Given the description of an element on the screen output the (x, y) to click on. 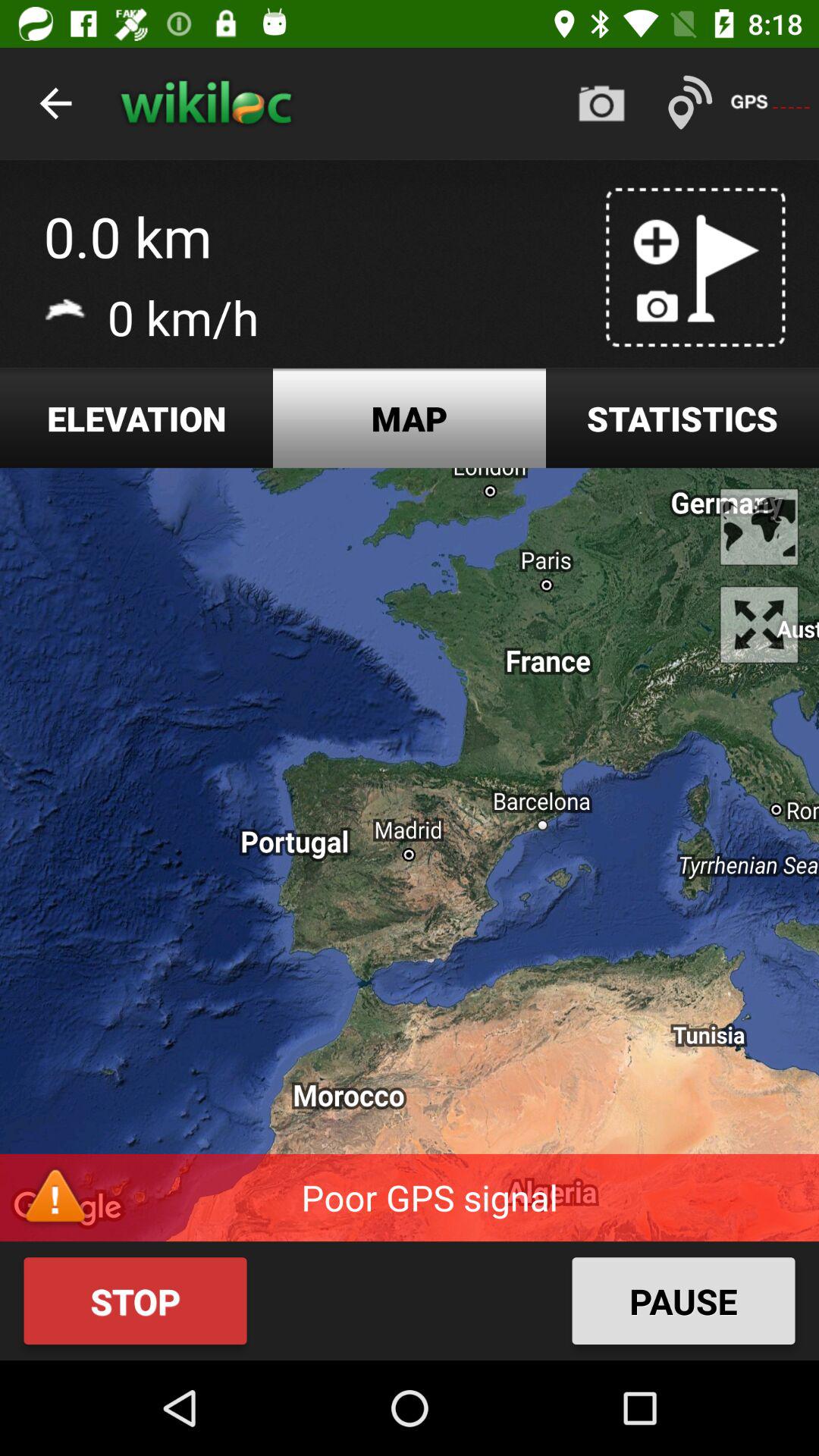
select the icon at the bottom right corner (683, 1300)
